Given the description of an element on the screen output the (x, y) to click on. 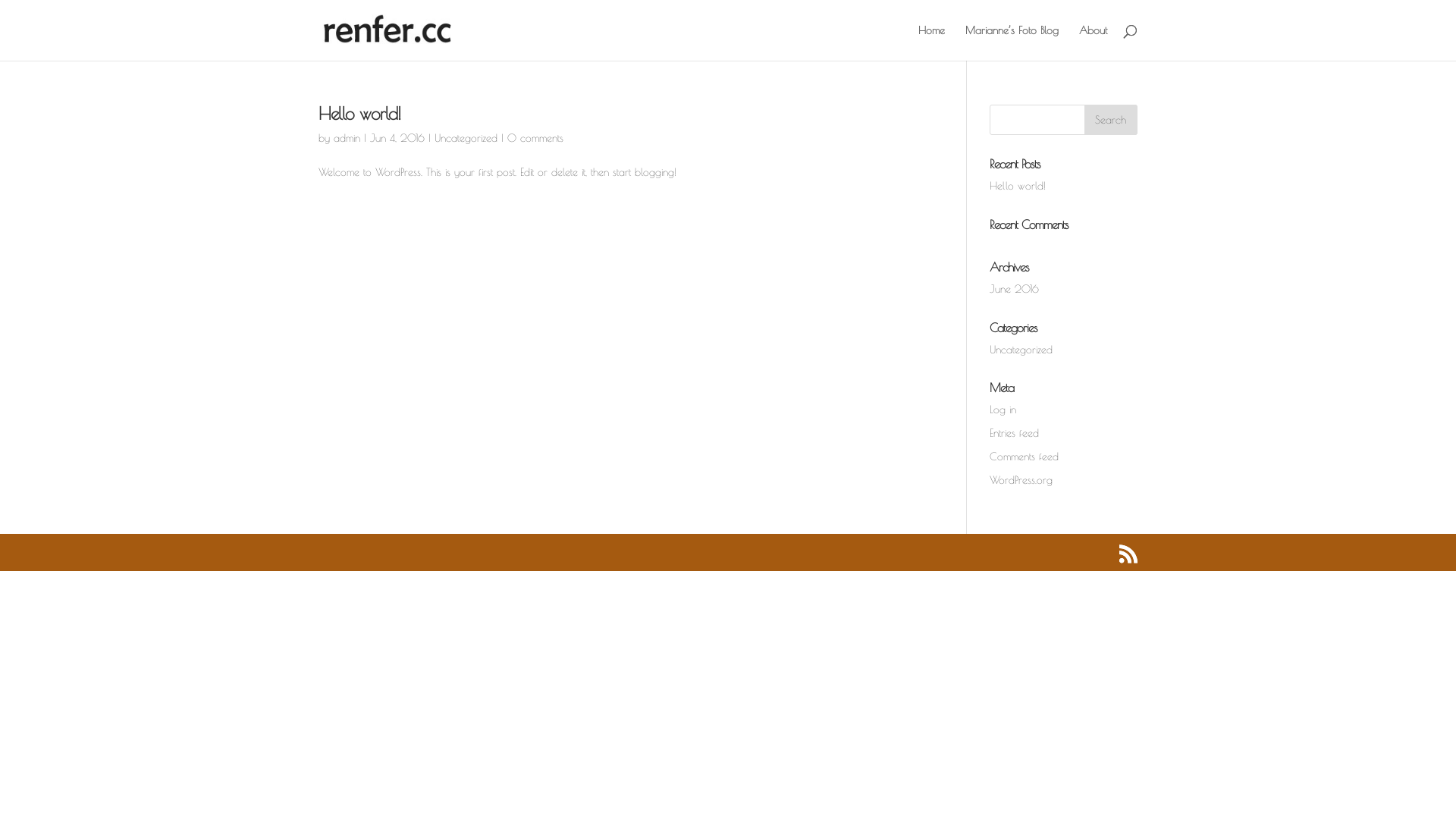
Search Element type: text (1110, 119)
Log in Element type: text (1002, 409)
Home Element type: text (931, 42)
Hello world! Element type: text (359, 113)
0 comments Element type: text (535, 137)
Entries feed Element type: text (1013, 432)
June 2016 Element type: text (1013, 288)
admin Element type: text (346, 137)
Comments feed Element type: text (1023, 456)
About Element type: text (1093, 42)
WordPress.org Element type: text (1020, 479)
Uncategorized Element type: text (465, 137)
Uncategorized Element type: text (1020, 349)
Hello world! Element type: text (1017, 185)
